Given the description of an element on the screen output the (x, y) to click on. 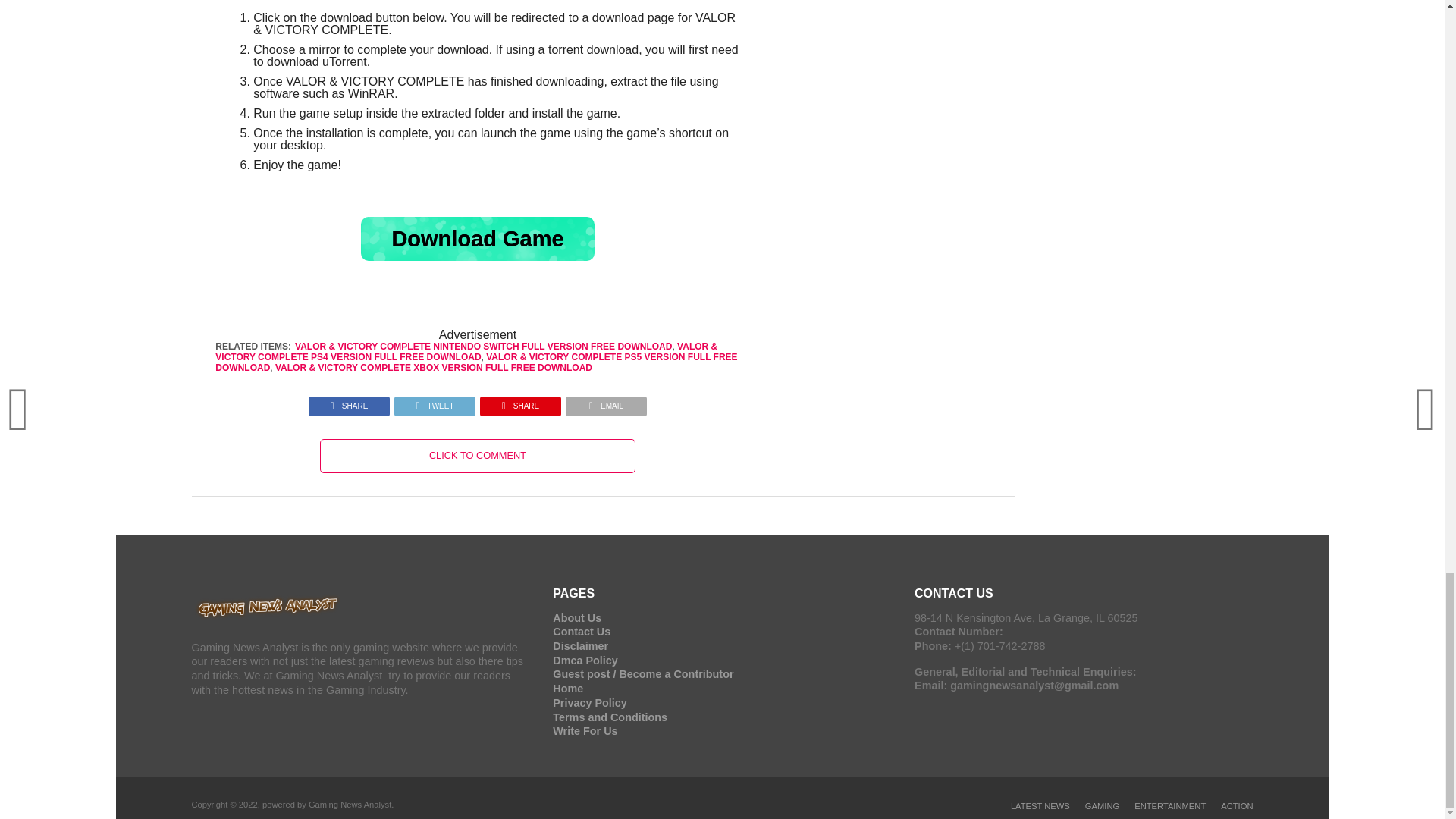
Download Game (477, 239)
SHARE (349, 401)
TWEET (434, 401)
About Us (577, 617)
Tweet This Post (434, 401)
Download Game (477, 239)
SHARE (520, 401)
EMAIL (605, 401)
Share on Facebook (349, 401)
Pin This Post (520, 401)
